Given the description of an element on the screen output the (x, y) to click on. 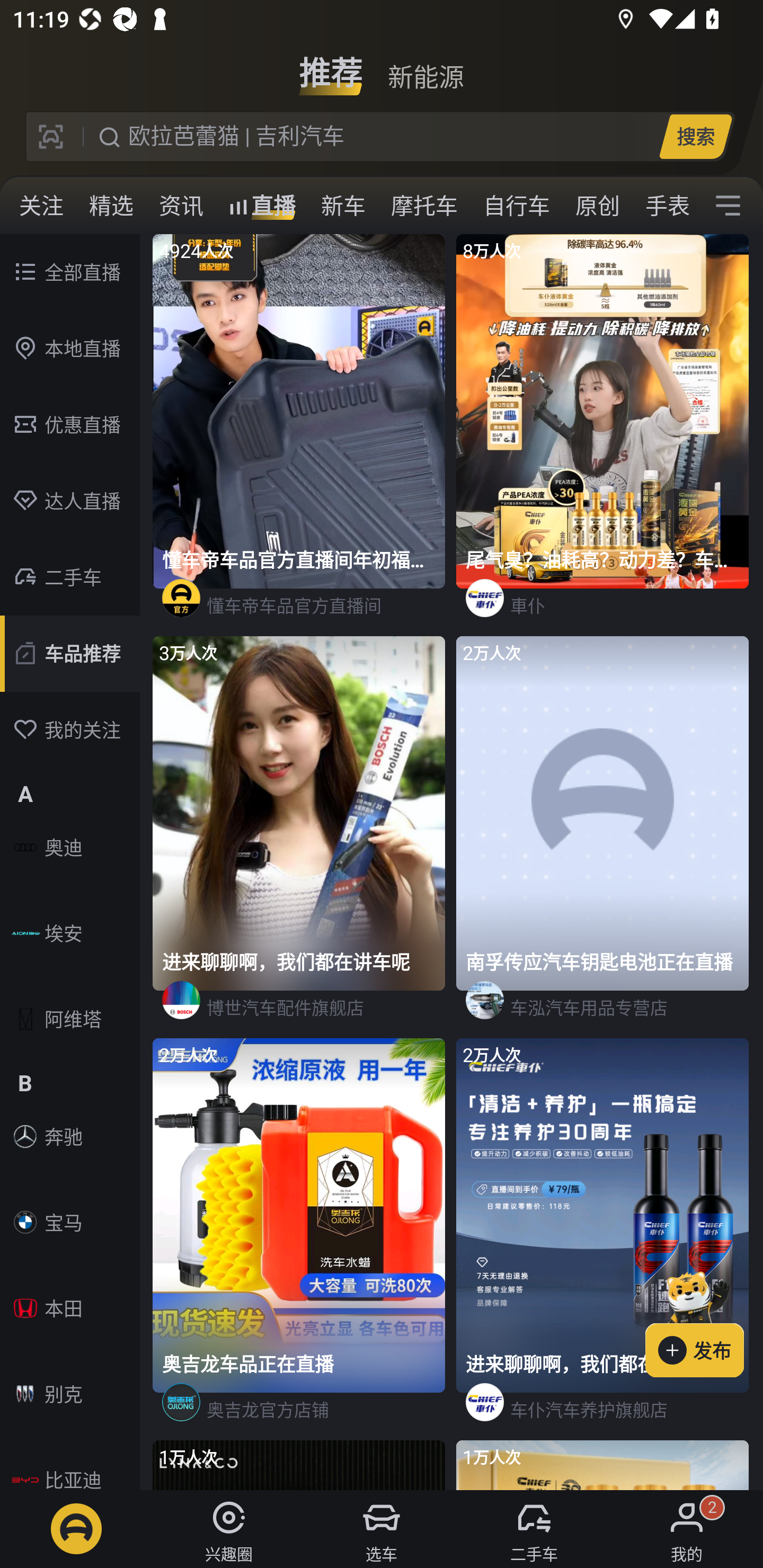
推荐 (330, 65)
新能源 (425, 65)
搜索 (695, 136)
关注 (41, 205)
精选 (111, 205)
资讯 (180, 205)
直播 (261, 205)
新车 (343, 205)
摩托车 (424, 205)
自行车 (516, 205)
原创 (597, 205)
手表 (663, 205)
 (727, 205)
全部直播 (69, 271)
4924 人次 懂车帝车品官方直播间年初福利专场，还有更多好礼等你来！ 懂车帝车品官方直播间 (299, 434)
8 万人次 尾气臭？油耗高？动力差？车仆积碳救星半价来了... 車仆 (603, 434)
本地直播 (69, 348)
优惠直播 (69, 424)
达人直播 (69, 500)
二手车 (69, 577)
车品推荐 (69, 653)
3 万人次 进来聊聊啊，我们都在讲车呢 博世汽车配件旗舰店 (299, 837)
2 万人次 南孚传应汽车钥匙电池正在直播 车泓汽车用品专营店 (603, 837)
我的关注 (69, 729)
奥迪 (69, 847)
埃安 (69, 933)
阿维塔 (69, 1018)
2 万人次 奥吉龙车品正在直播 奥吉龙官方店铺 (299, 1239)
2 万人次 进来聊聊啊，我们都在讲车呢 车仆汽车养护旗舰店 (603, 1239)
奔驰 (69, 1136)
宝马 (69, 1221)
发布 (704, 1320)
本田 (69, 1308)
别克 (69, 1394)
比亚迪 (69, 1465)
 兴趣圈 (228, 1528)
 选车 (381, 1528)
 二手车 (533, 1528)
 我的 (686, 1528)
